Given the description of an element on the screen output the (x, y) to click on. 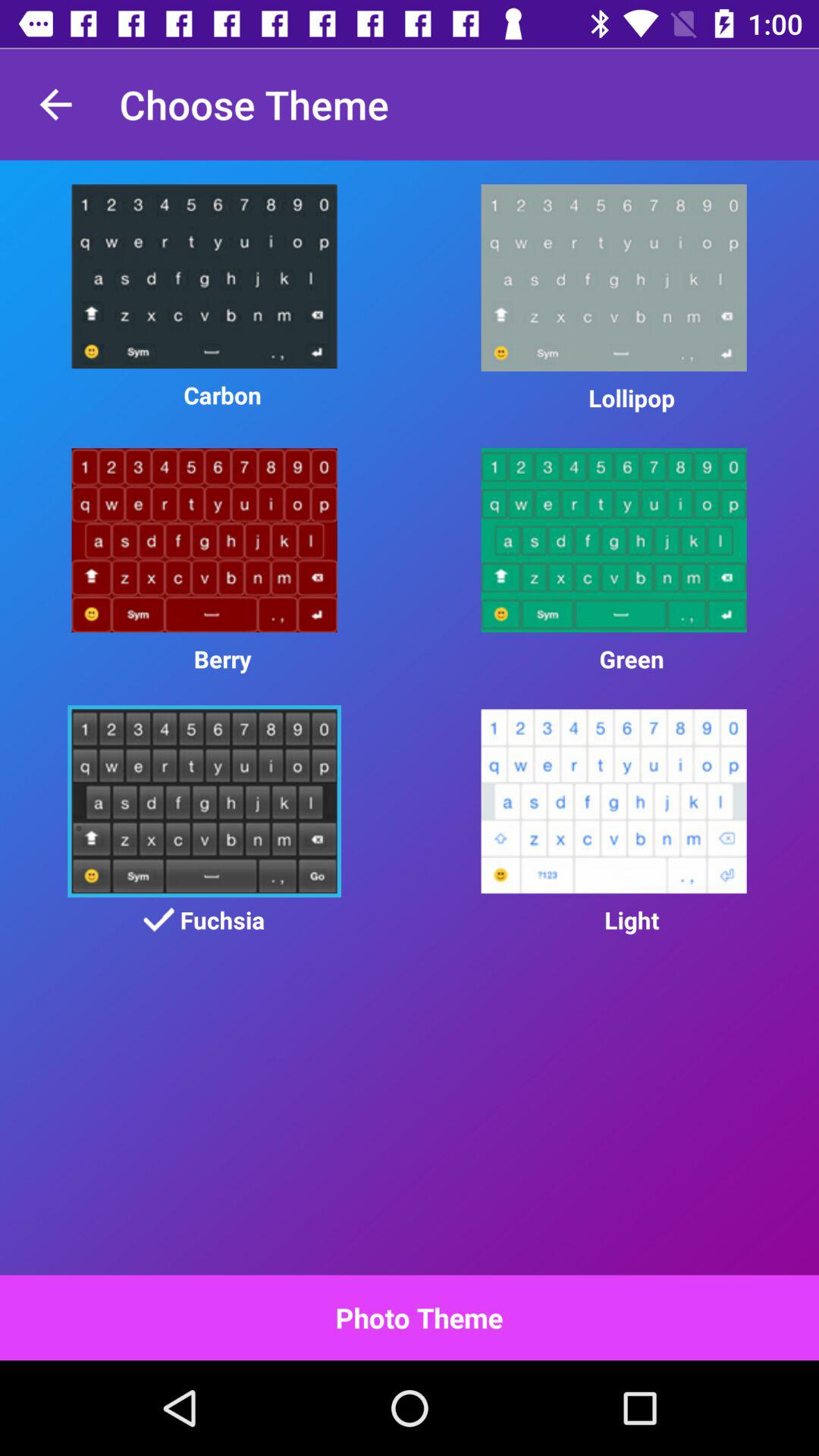
tap the item to the left of choose theme item (55, 104)
